Given the description of an element on the screen output the (x, y) to click on. 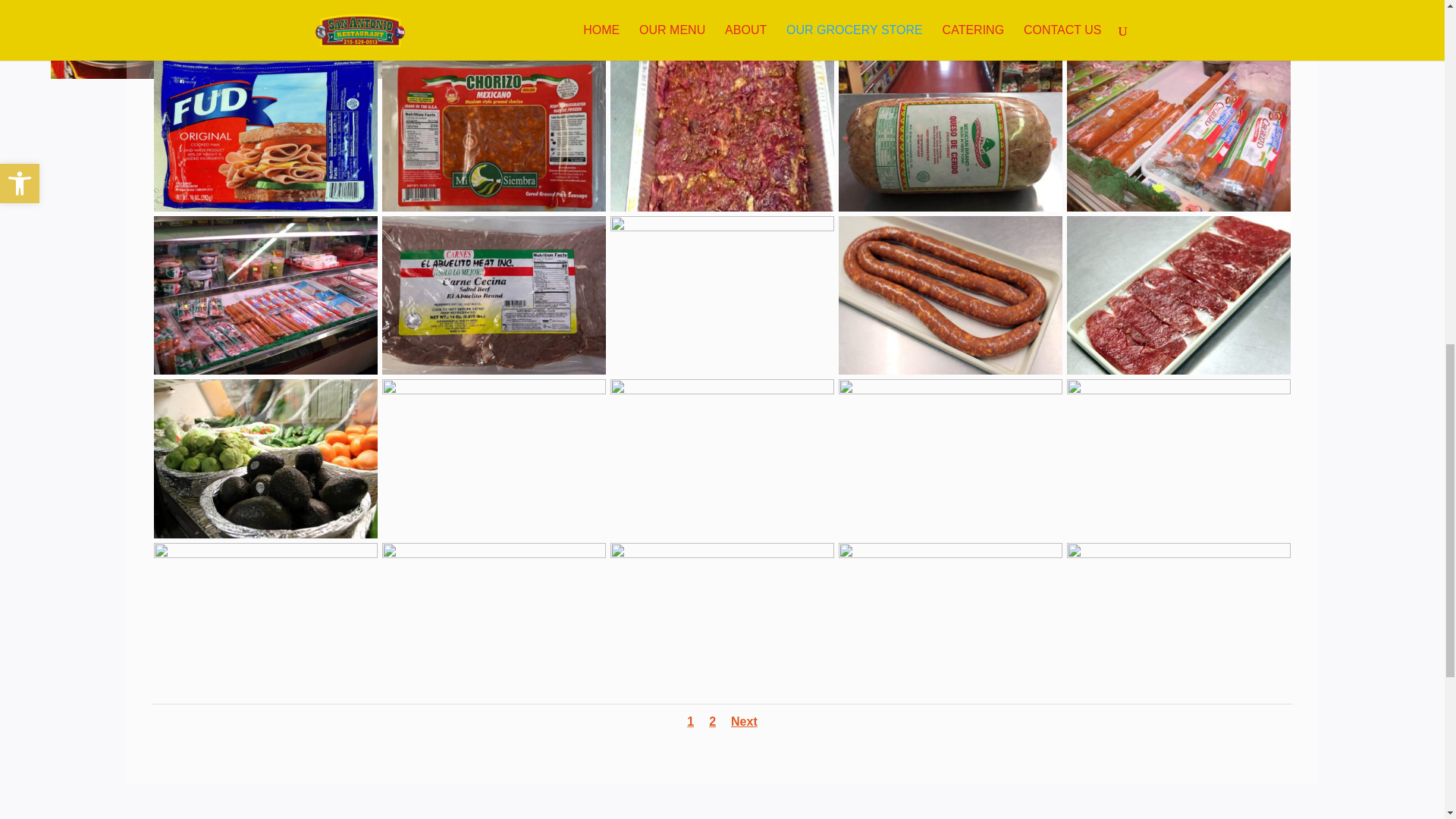
chorizo-17406 (494, 209)
Dogs-17414 (265, 209)
